Given the description of an element on the screen output the (x, y) to click on. 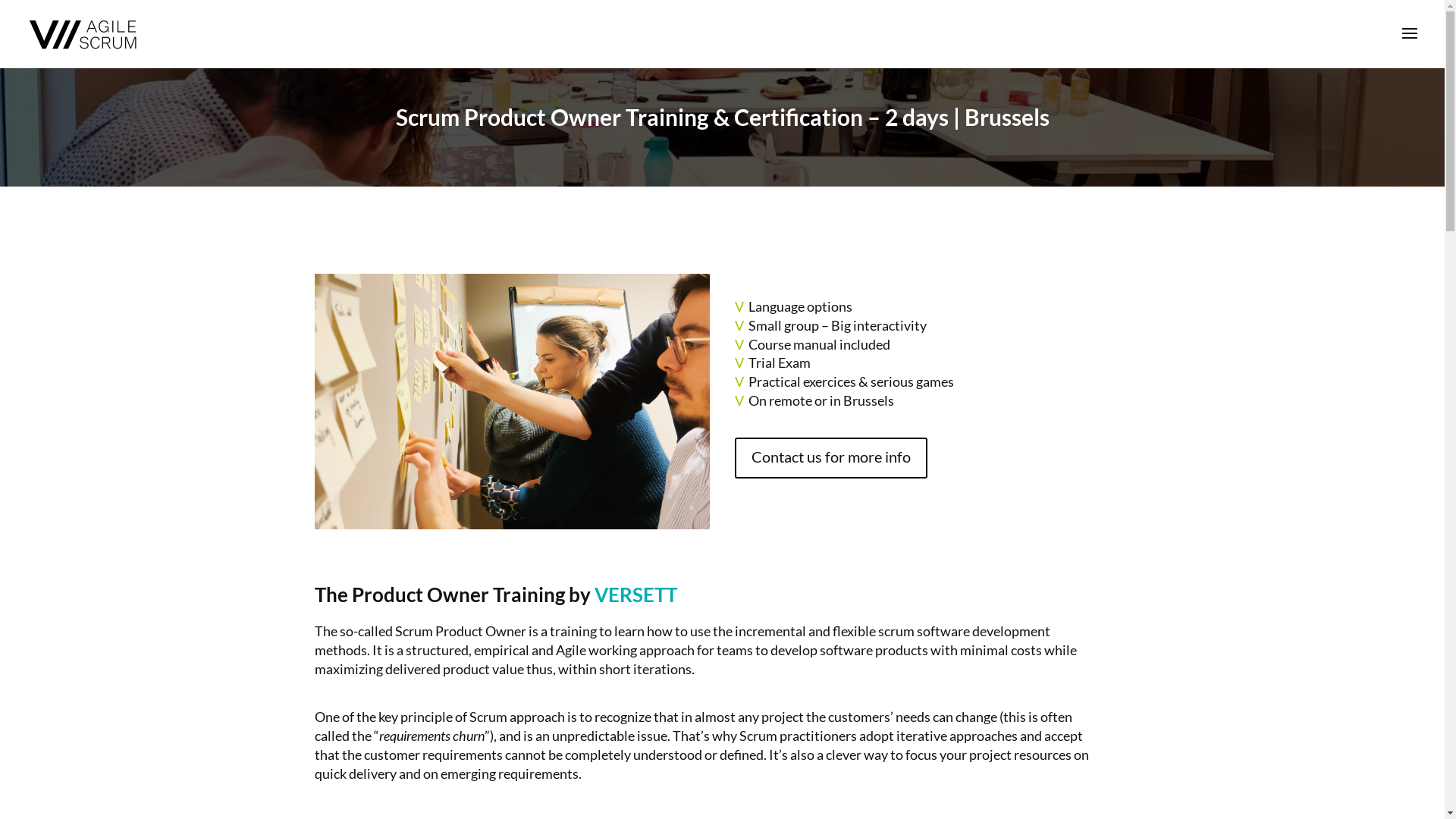
Contact us for more info Element type: text (830, 457)
IMG_20230307_193358 (1) Element type: hover (511, 401)
